Given the description of an element on the screen output the (x, y) to click on. 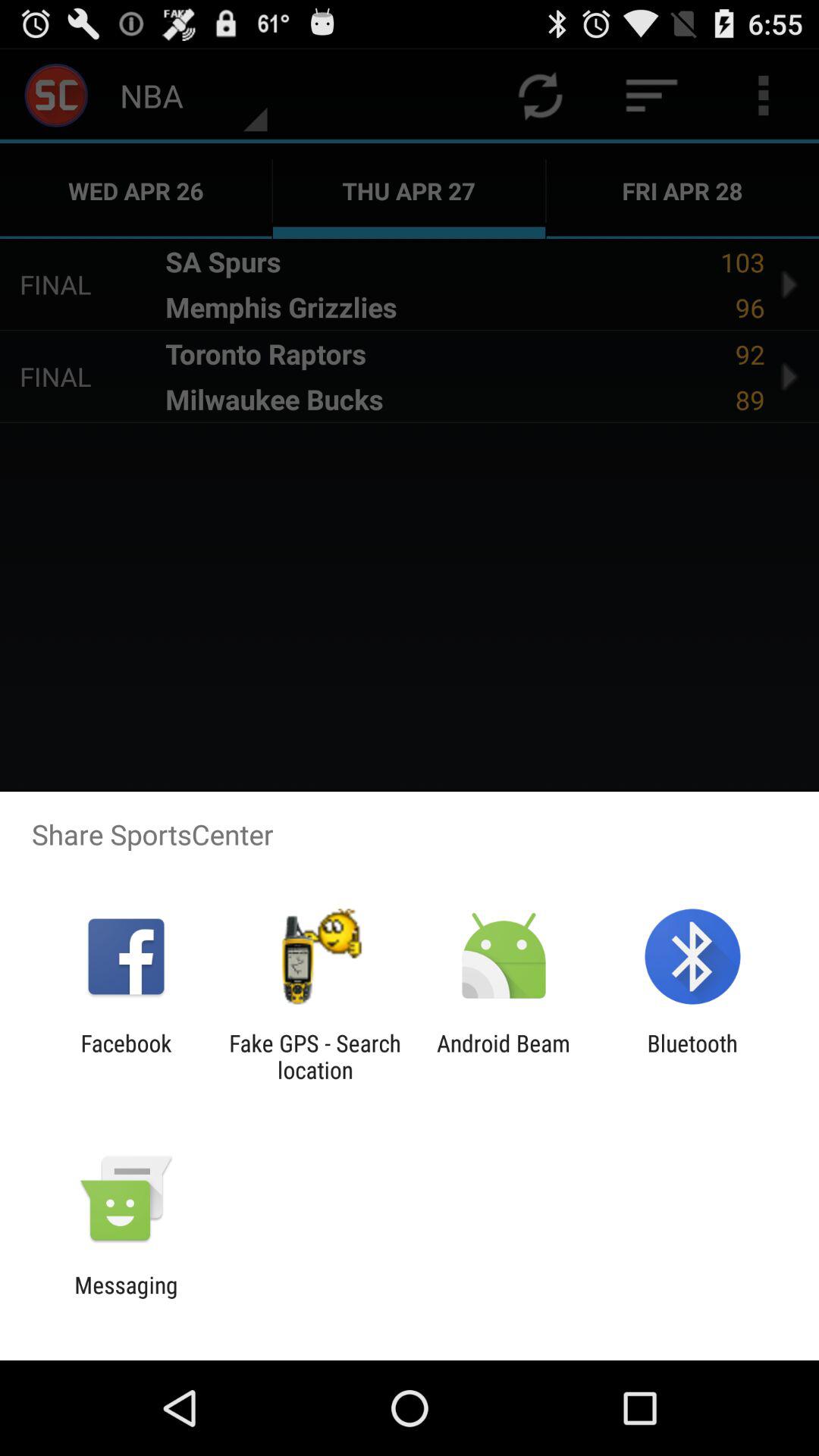
turn on the icon next to android beam (314, 1056)
